Given the description of an element on the screen output the (x, y) to click on. 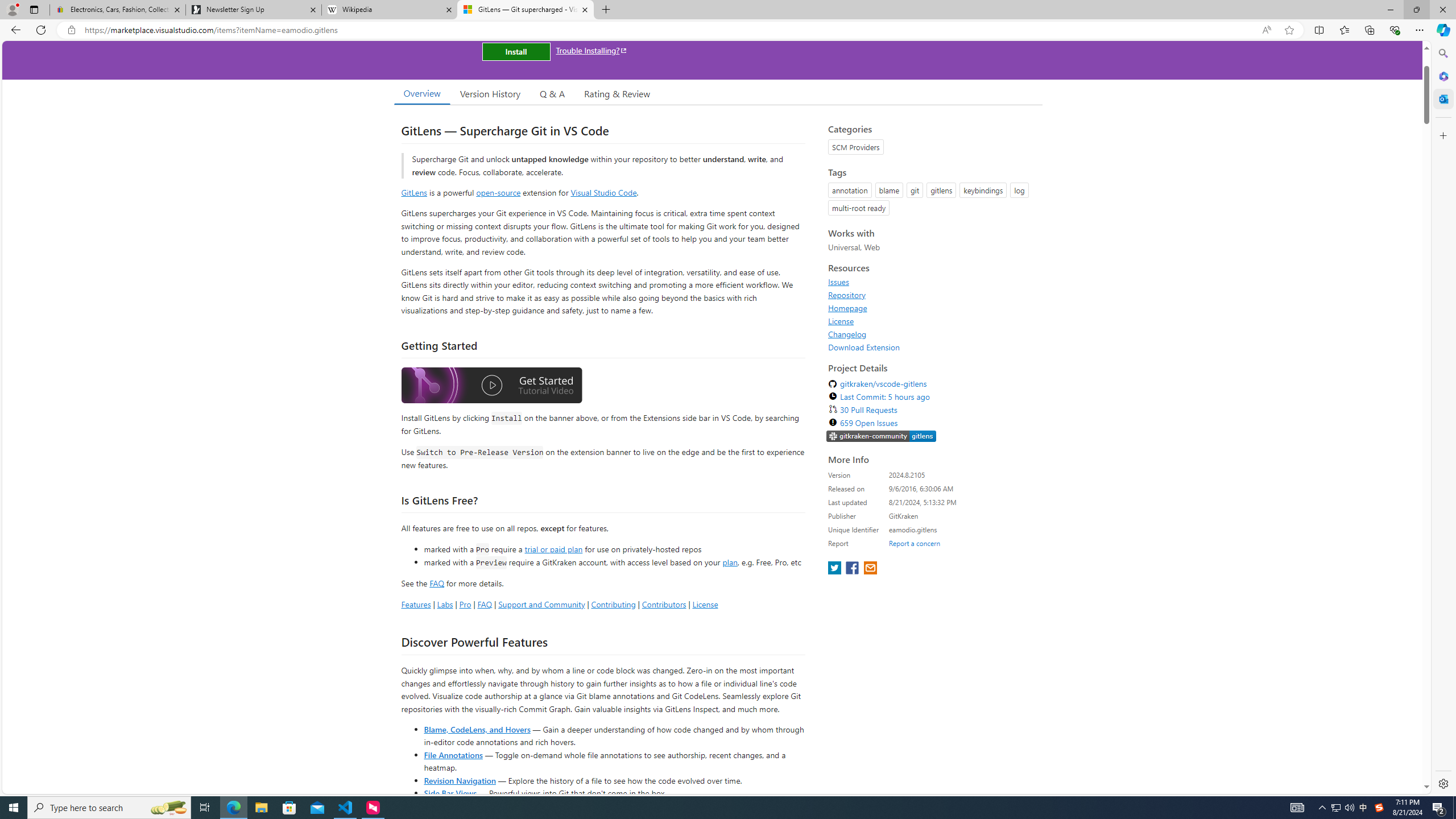
share extension on facebook (853, 568)
share extension on twitter (835, 568)
Download Extension (863, 346)
Watch the GitLens Getting Started video (491, 385)
share extension on email (869, 568)
